Given the description of an element on the screen output the (x, y) to click on. 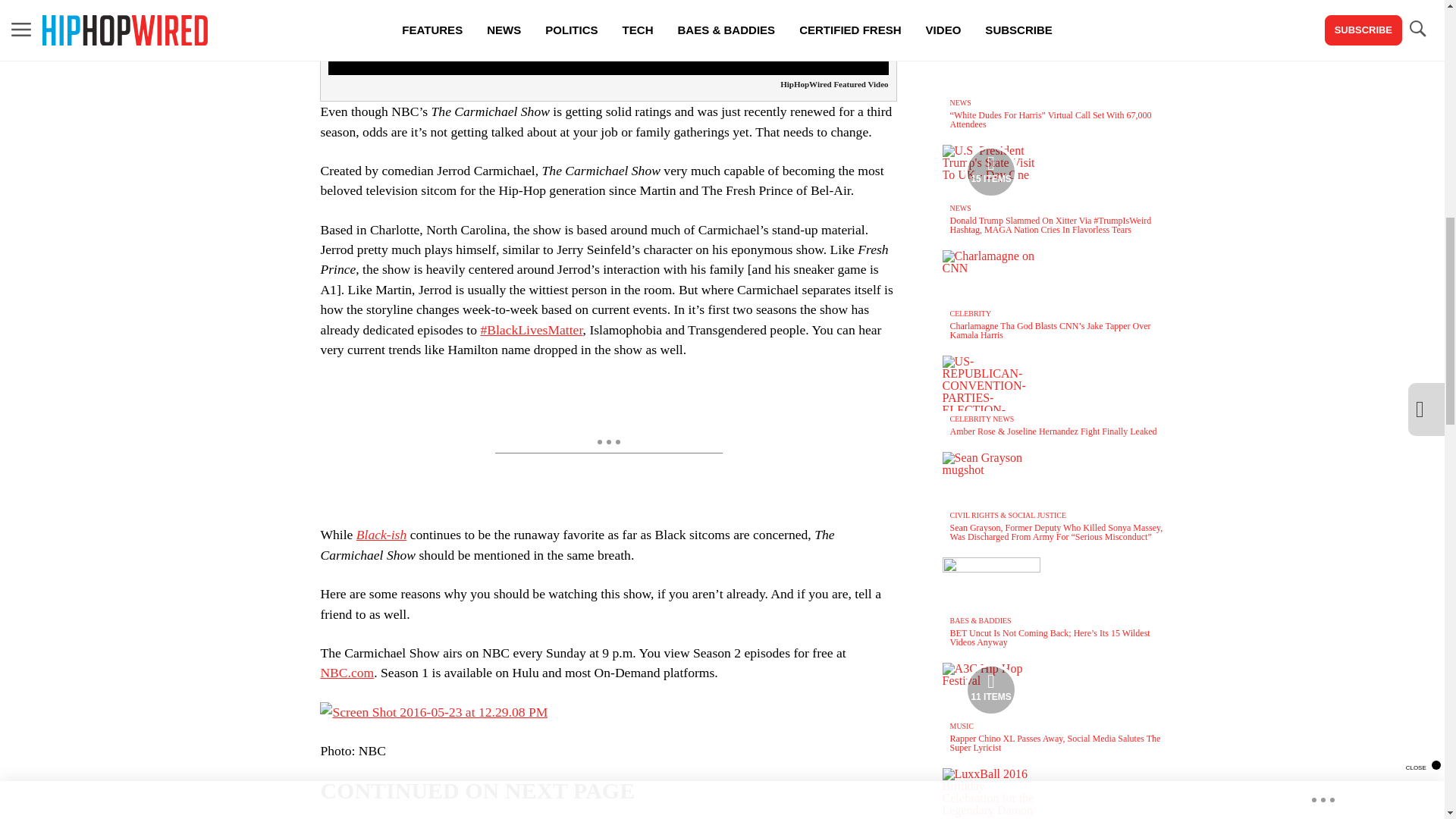
NBC.com (347, 672)
Media Playlist (990, 172)
Black-ish (381, 534)
Media Playlist (990, 689)
